Given the description of an element on the screen output the (x, y) to click on. 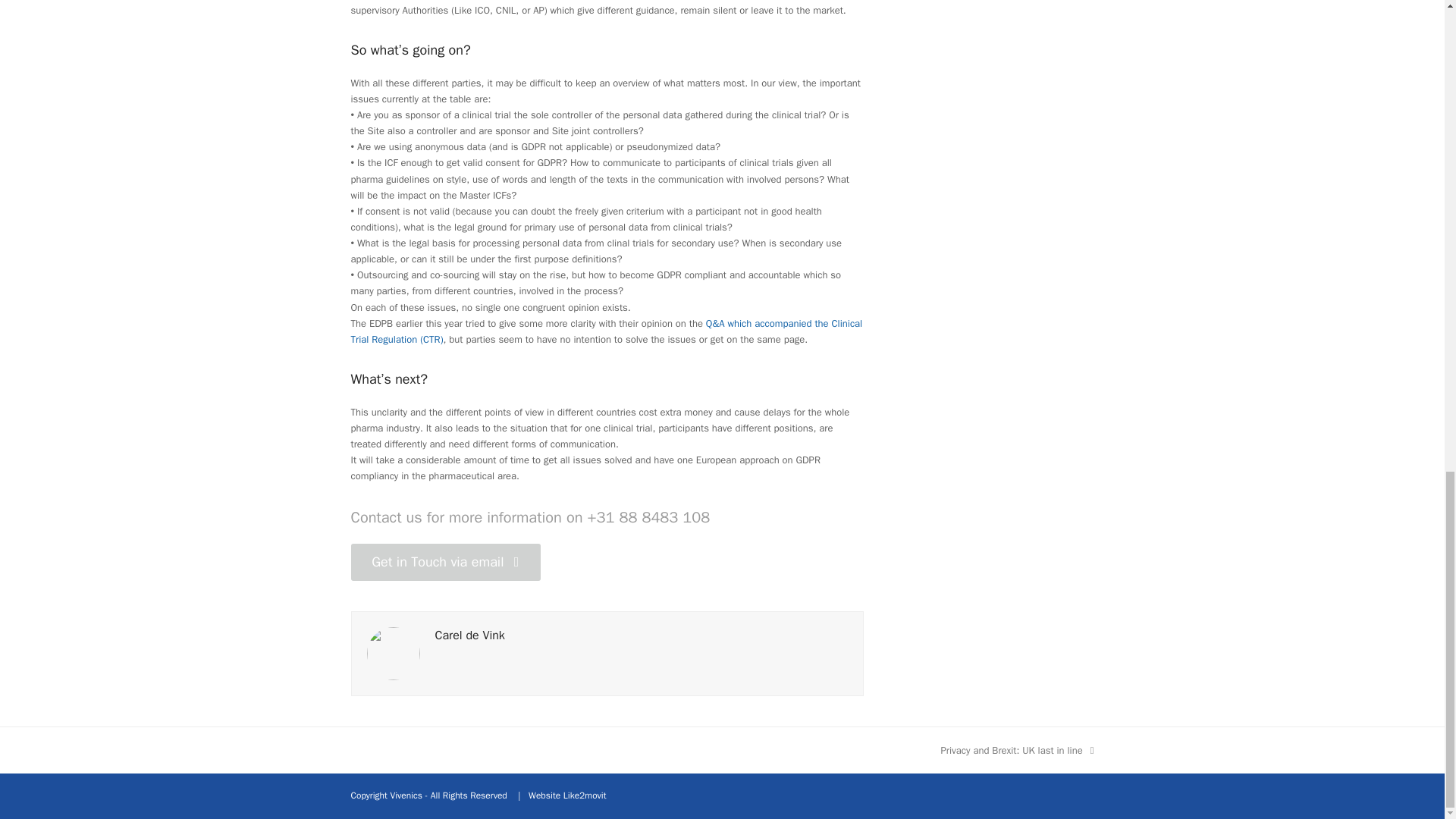
Carel de Vink (470, 635)
Visit Author Page (470, 635)
Visit Author Page (1017, 750)
Get in Touch via email (393, 652)
Like2movit (445, 561)
